Given the description of an element on the screen output the (x, y) to click on. 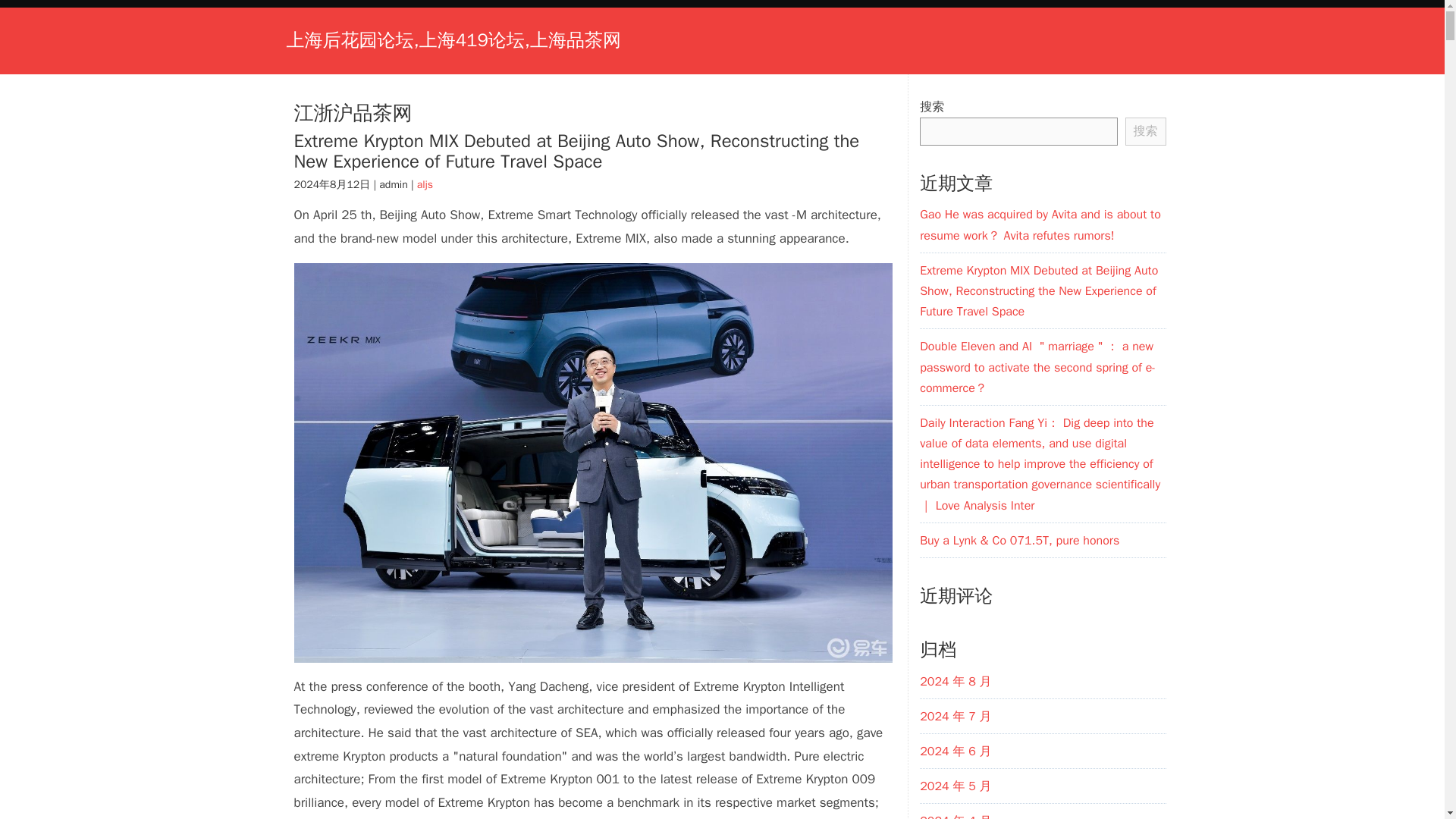
aljs (424, 184)
